Given the description of an element on the screen output the (x, y) to click on. 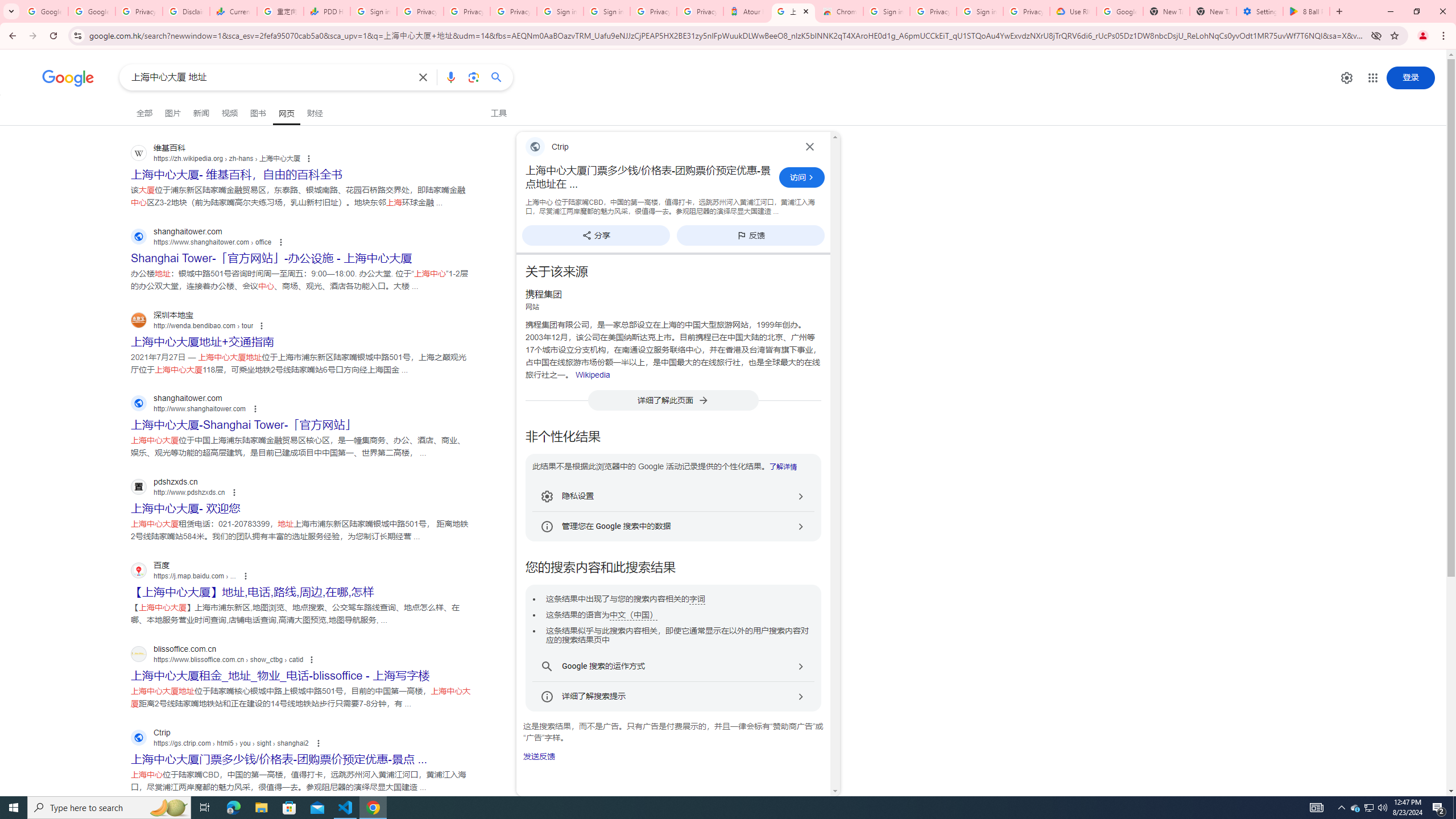
8 Ball Pool - Apps on Google Play (1306, 11)
Wikipedia (592, 375)
